Given the description of an element on the screen output the (x, y) to click on. 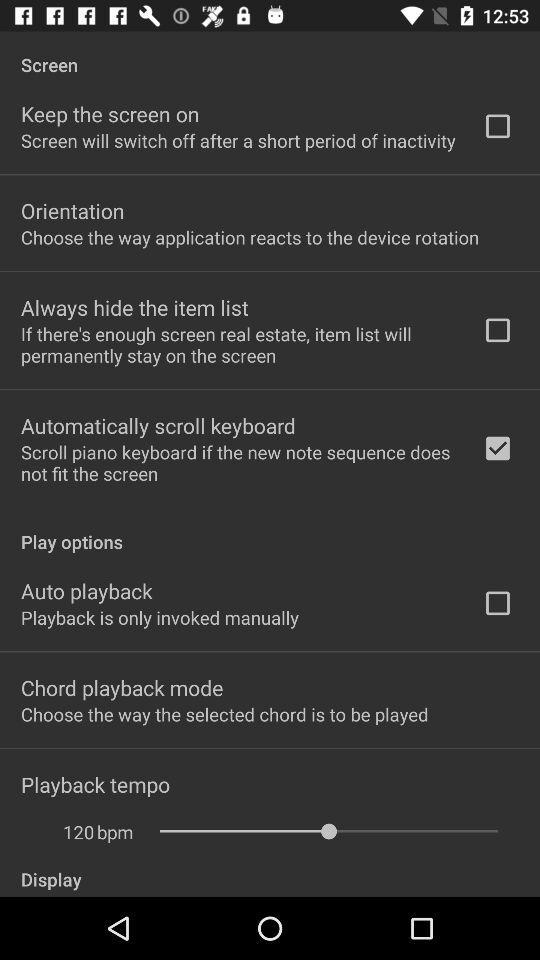
tap the app below the playback tempo (115, 831)
